Given the description of an element on the screen output the (x, y) to click on. 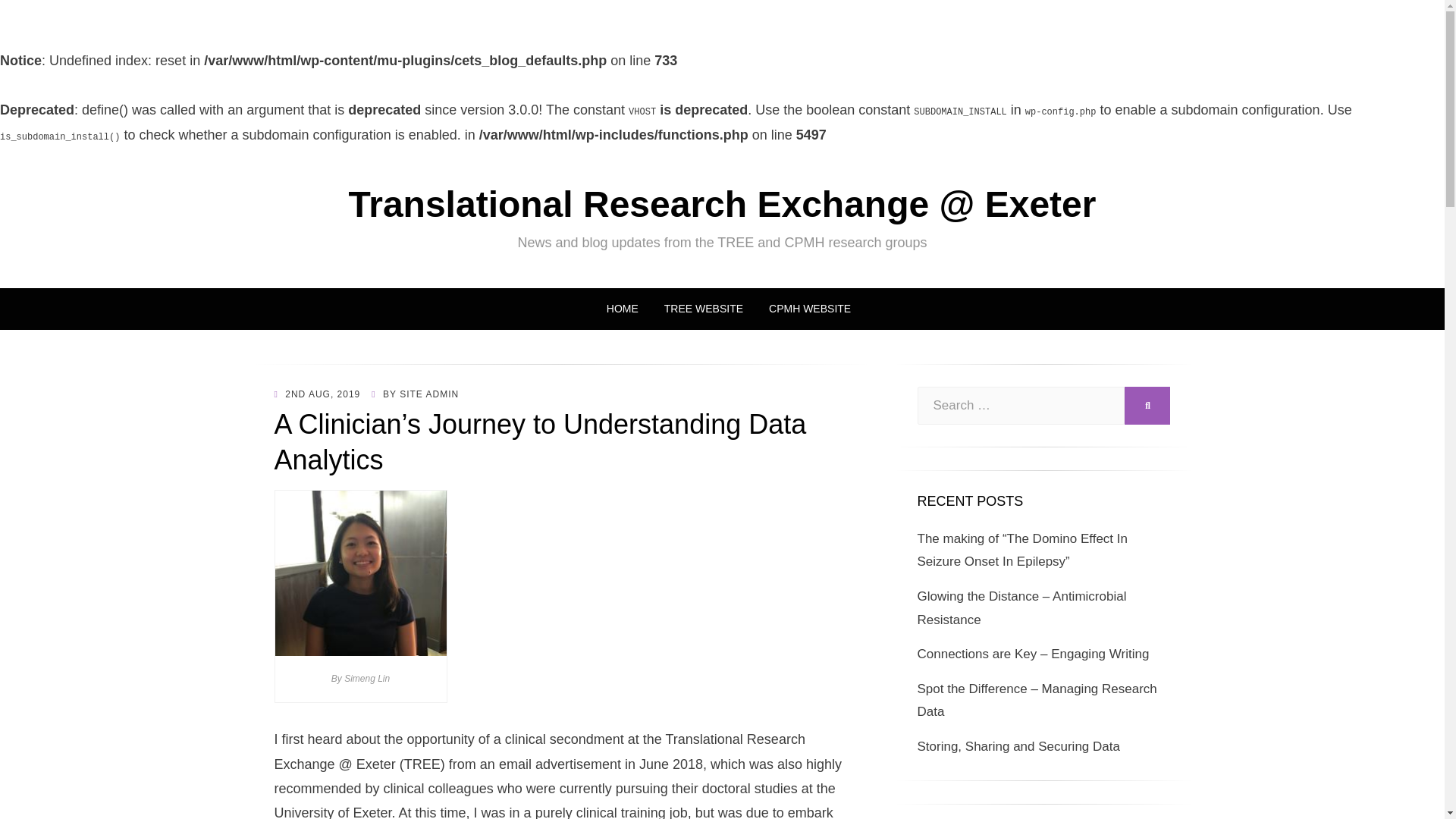
SITE ADMIN (428, 394)
CPMH WEBSITE (802, 308)
Search for: (1021, 405)
Storing, Sharing and Securing Data (1018, 746)
2ND AUG, 2019 (318, 394)
SEARCH (1147, 405)
HOME (622, 308)
TREE WEBSITE (702, 308)
